Given the description of an element on the screen output the (x, y) to click on. 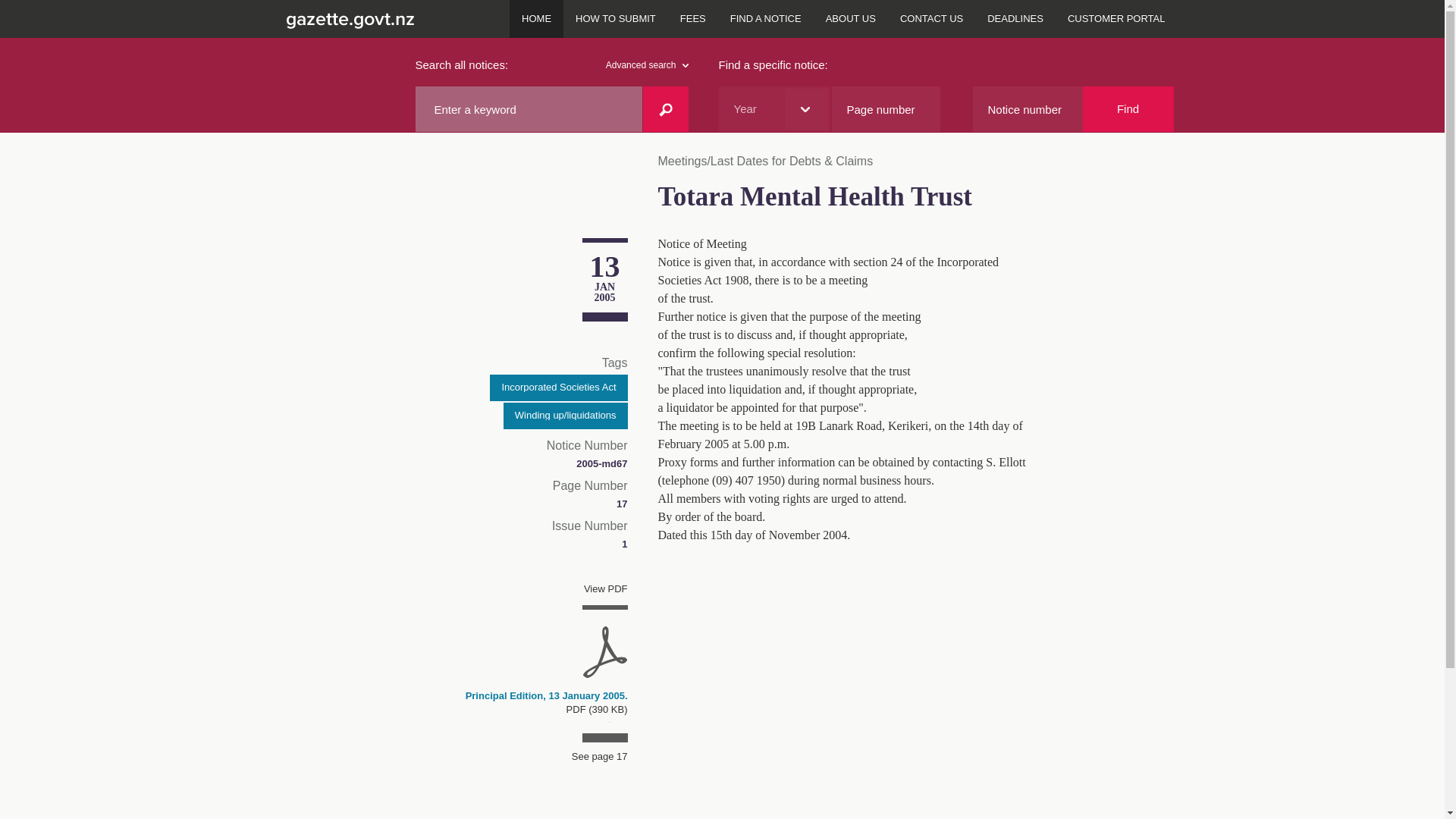
HOW TO SUBMIT (615, 18)
FIND A NOTICE (765, 18)
Find (1128, 108)
Incorporated Societies Act (558, 387)
Advanced search (646, 65)
Find (1128, 108)
CONTACT US (931, 18)
CUSTOMER PORTAL (1116, 18)
Gazette.govt.nz (347, 18)
DEADLINES (1015, 18)
ABOUT US (850, 18)
HOME (536, 18)
FEES (692, 18)
